Given the description of an element on the screen output the (x, y) to click on. 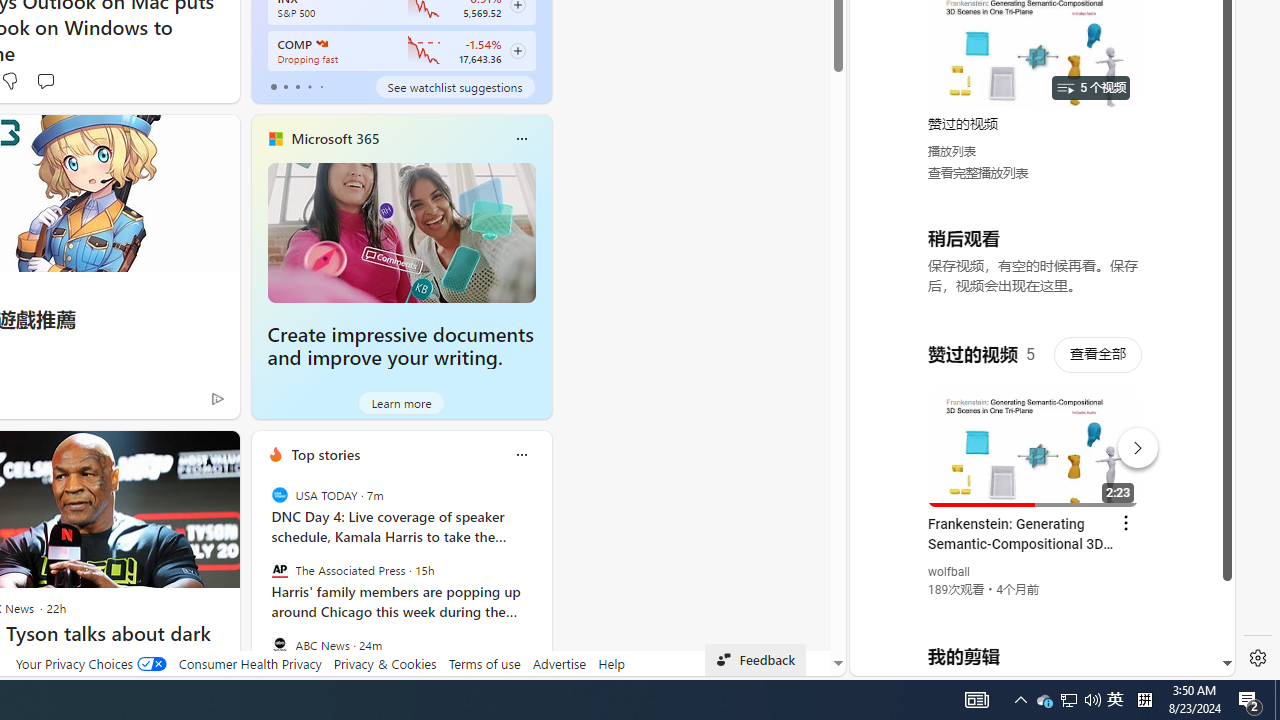
Start the conversation (45, 80)
Class: icon-img (521, 454)
Advertise (559, 663)
Create impressive documents and improve your writing. (400, 346)
Feedback (755, 659)
tab-0 (273, 86)
NASDAQ (320, 43)
